Given the description of an element on the screen output the (x, y) to click on. 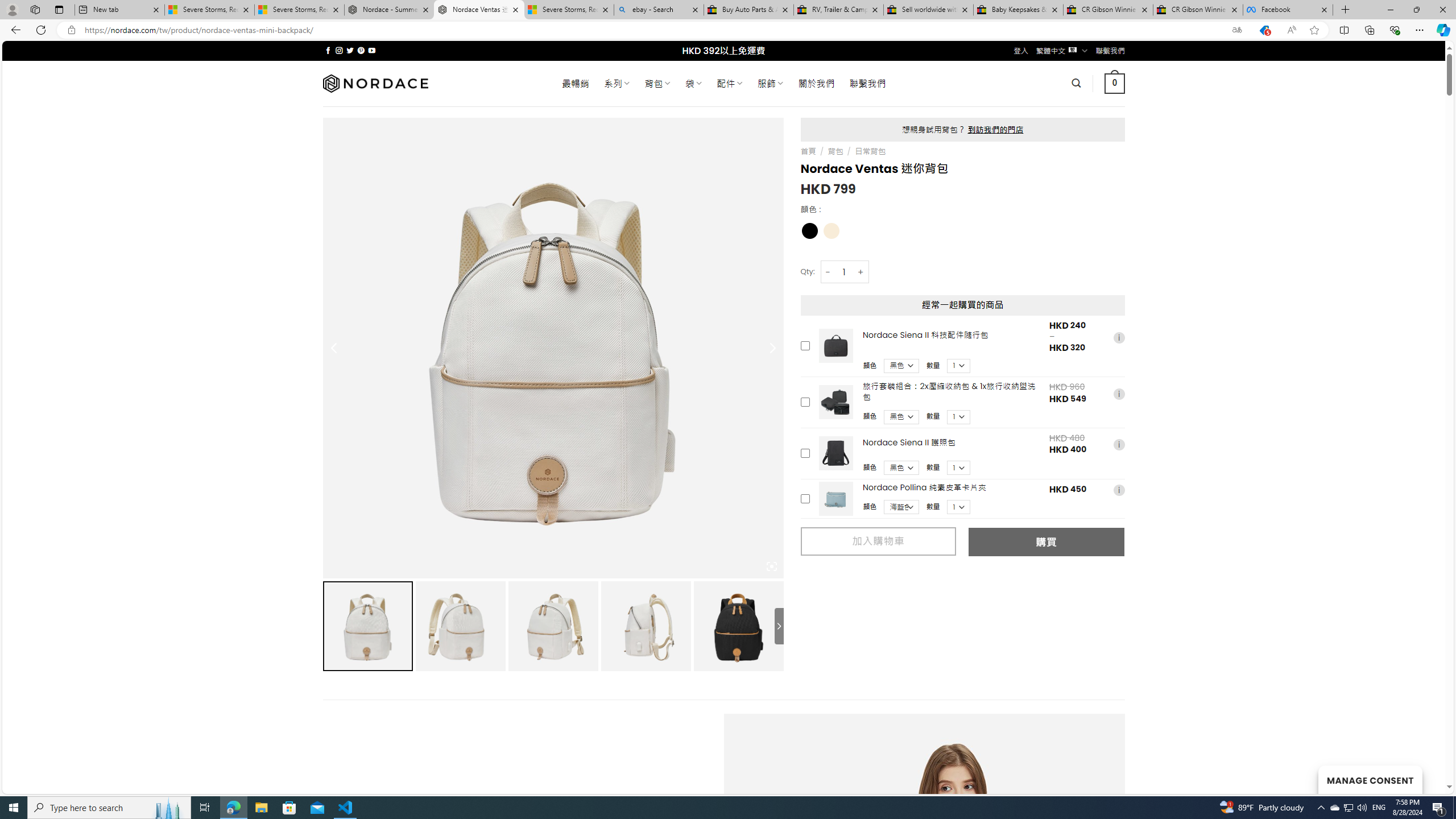
Follow on Facebook (327, 50)
RV, Trailer & Camper Steps & Ladders for sale | eBay (838, 9)
Follow on Pinterest (360, 50)
